Given the description of an element on the screen output the (x, y) to click on. 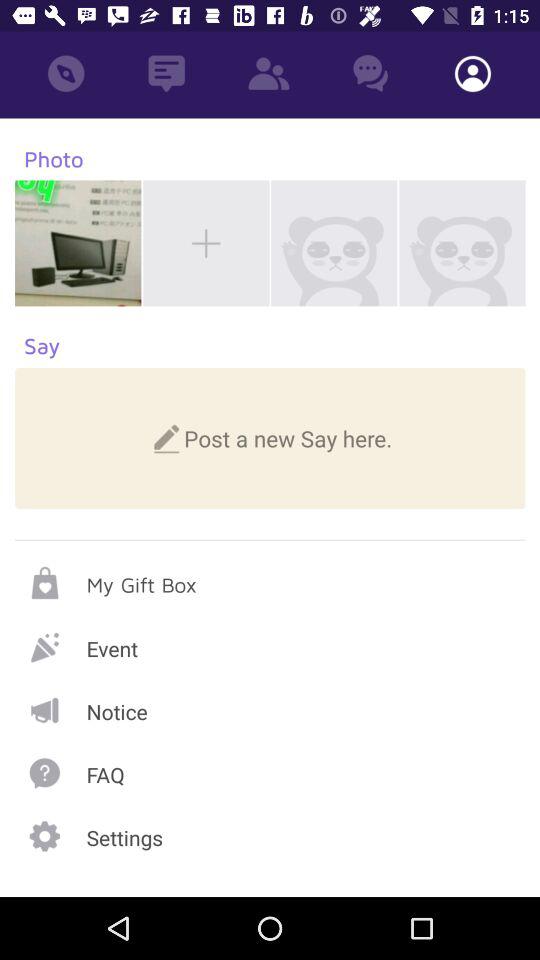
notification display (270, 709)
